Given the description of an element on the screen output the (x, y) to click on. 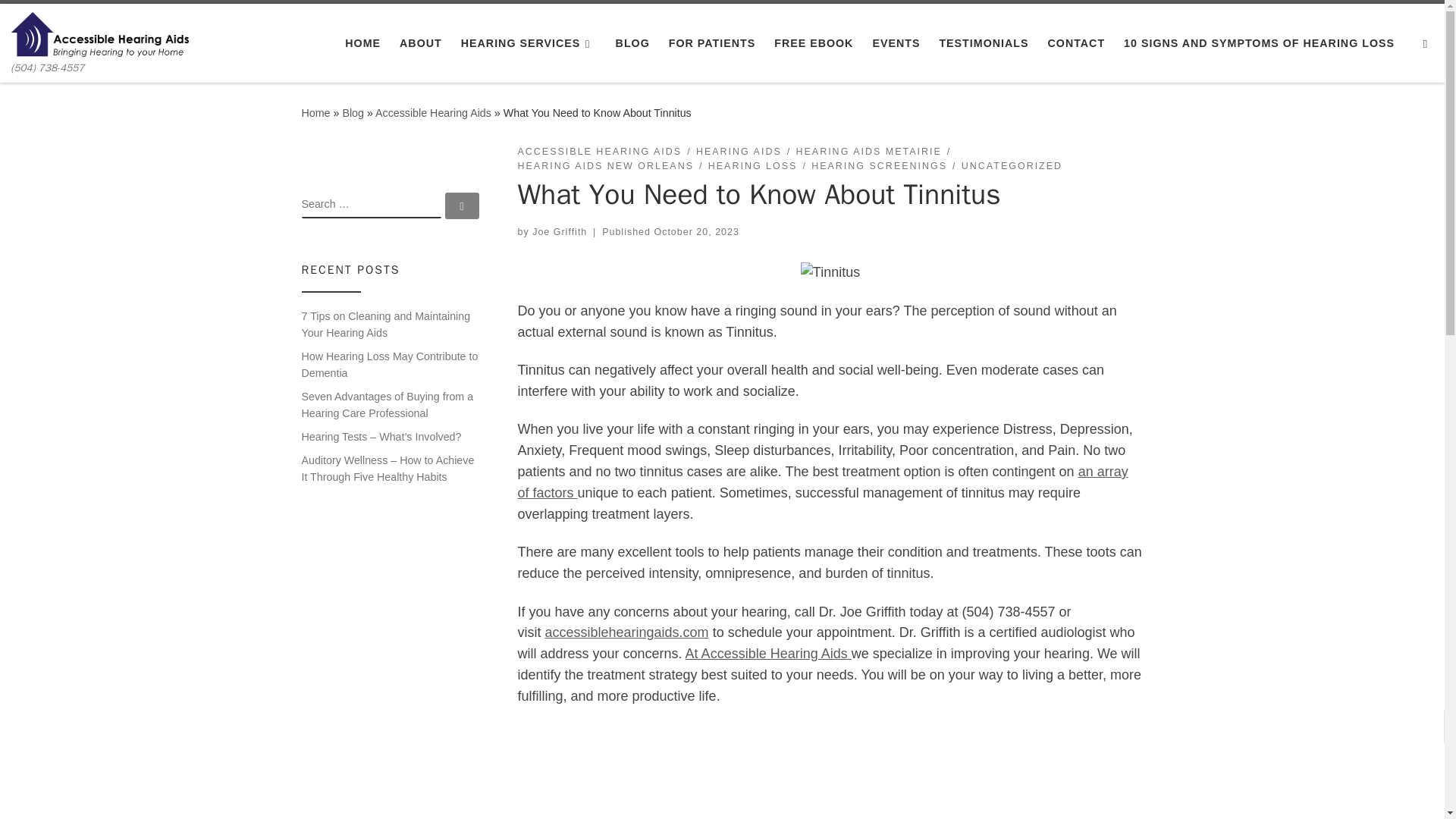
Subscribe to our RSS Feed (614, 737)
View all posts in Hearing Aids Metairie (867, 151)
Home (315, 112)
Skip to content (60, 20)
CONTACT (1075, 42)
Blog (353, 112)
View all posts by Joe Griffith (559, 231)
FREE EBOOK (814, 42)
HEARING AIDS (738, 151)
Accessible Hearing Aids (433, 112)
2:58 pm (695, 231)
Accessible Hearing Aids (433, 112)
BLOG (631, 42)
TESTIMONIALS (983, 42)
Follow Us On Facebook (534, 737)
